Given the description of an element on the screen output the (x, y) to click on. 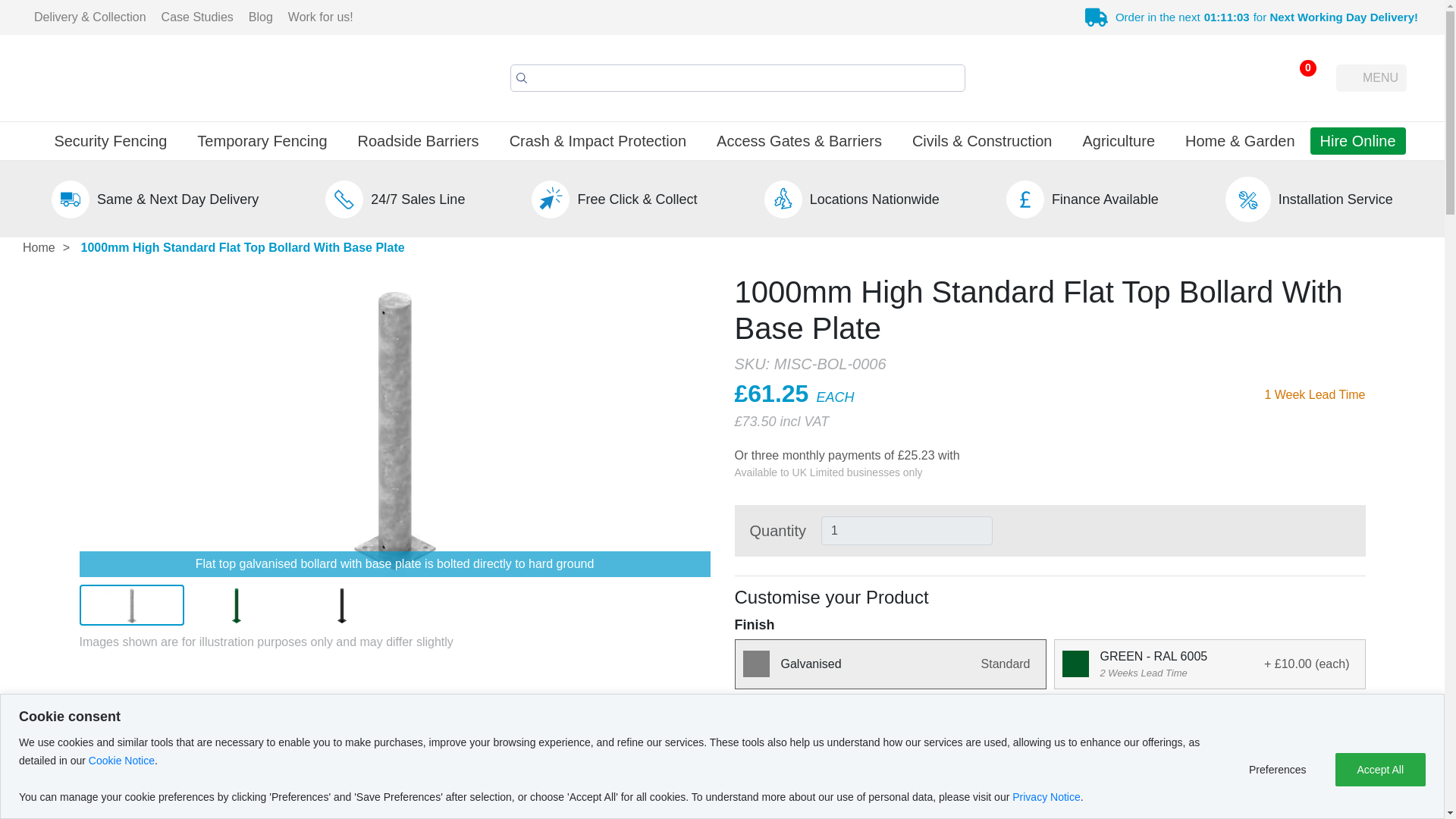
Locations Nationwide (874, 199)
MENU (1371, 77)
Installation Service (1335, 199)
Home (38, 248)
1 (906, 530)
Work for us! (321, 17)
0 (1297, 77)
1000mm High Standard Flat Top Bollard With Base Plate (242, 246)
Blog (261, 17)
Case Studies (197, 17)
Submit the search query (521, 77)
Finance Available (1104, 199)
